Given the description of an element on the screen output the (x, y) to click on. 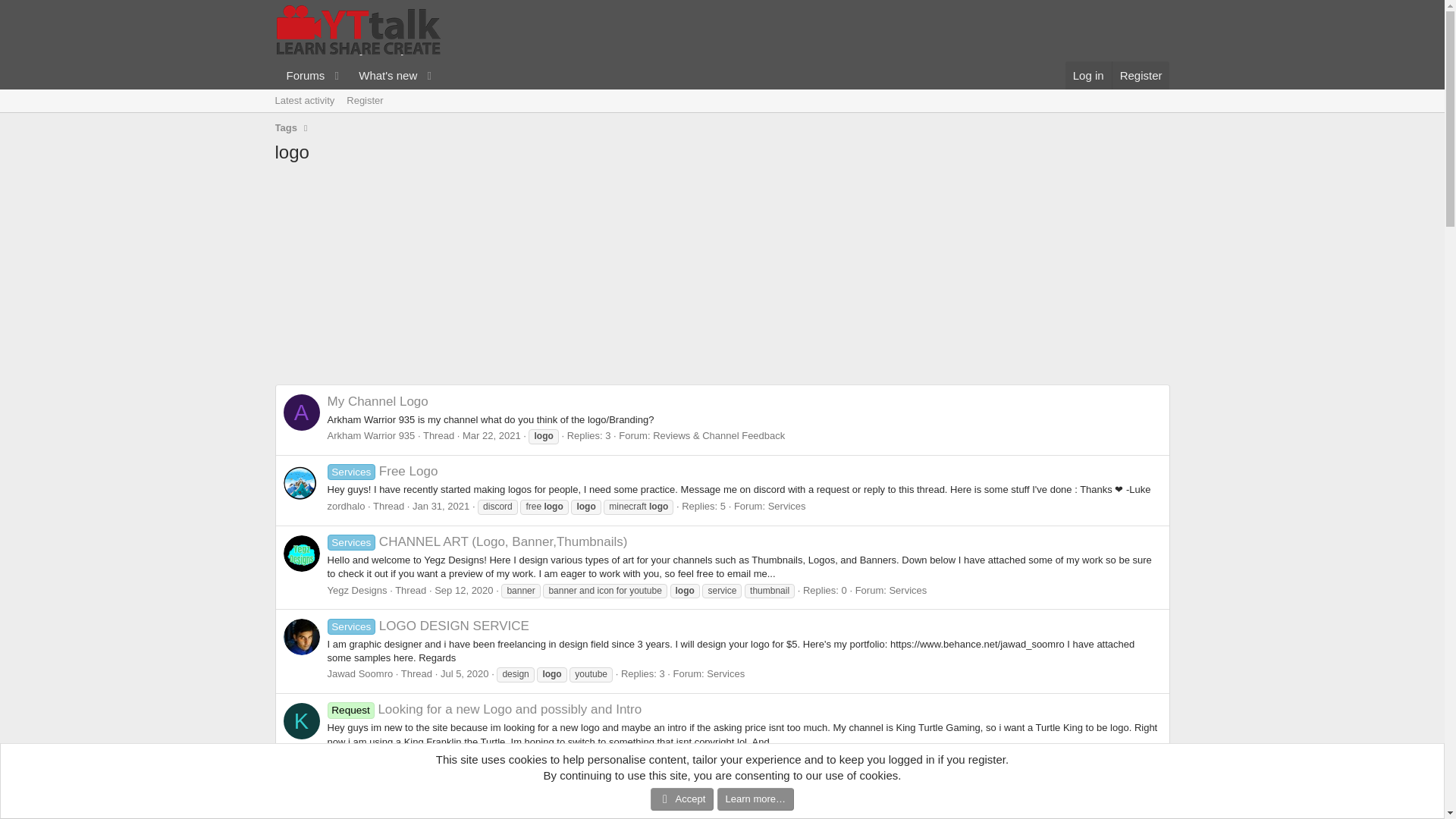
Request Looking for a new Logo and possibly and Intro (484, 708)
Register (1141, 75)
Log in (356, 75)
Services (1088, 75)
Services (787, 505)
King Turtle (725, 673)
Latest activity (350, 757)
What's new (303, 100)
